Given the description of an element on the screen output the (x, y) to click on. 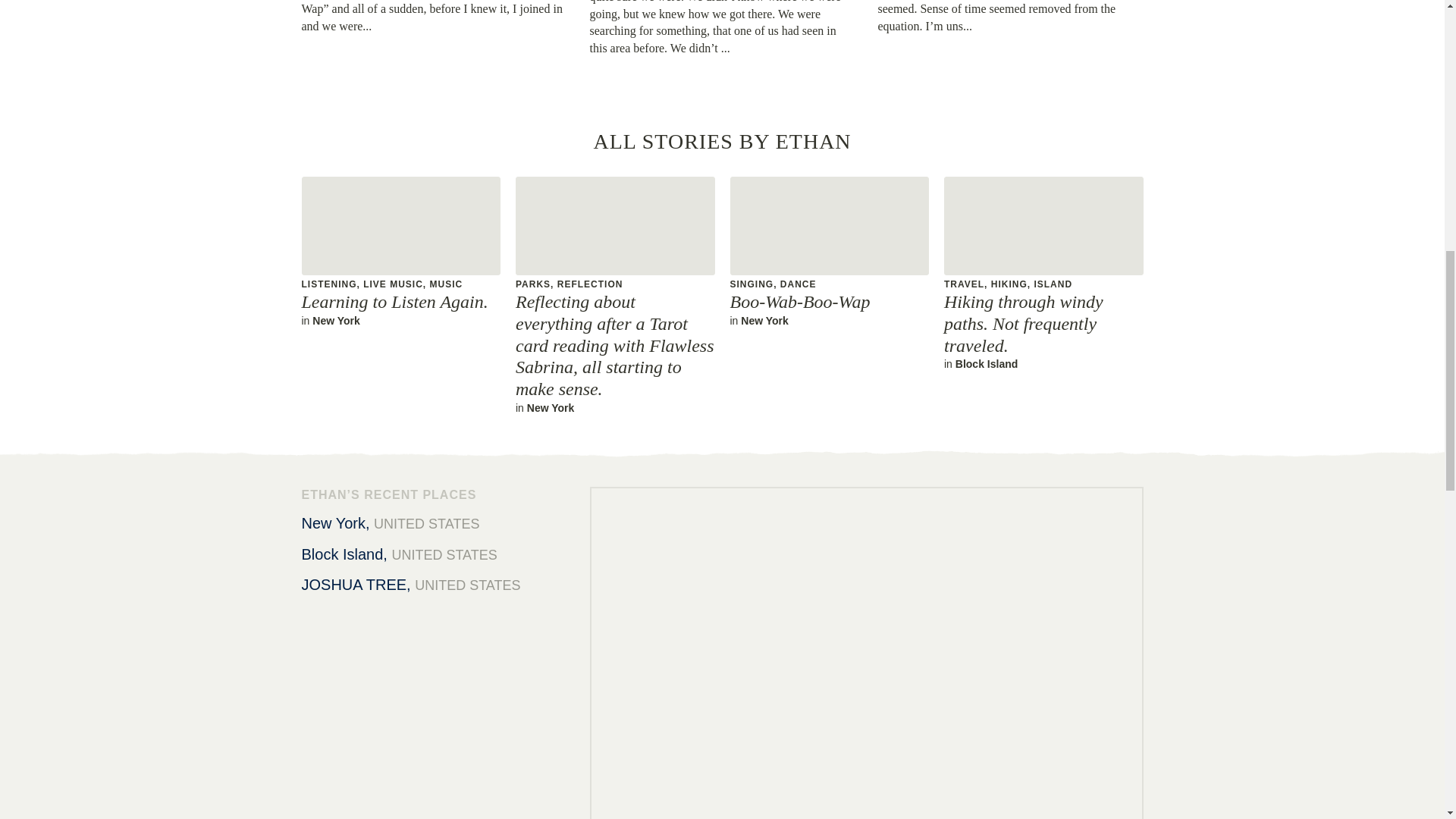
JOSHUA TREE, UNITED STATES (434, 585)
New York, UNITED STATES (434, 524)
Block Island, UNITED STATES (434, 555)
